Given the description of an element on the screen output the (x, y) to click on. 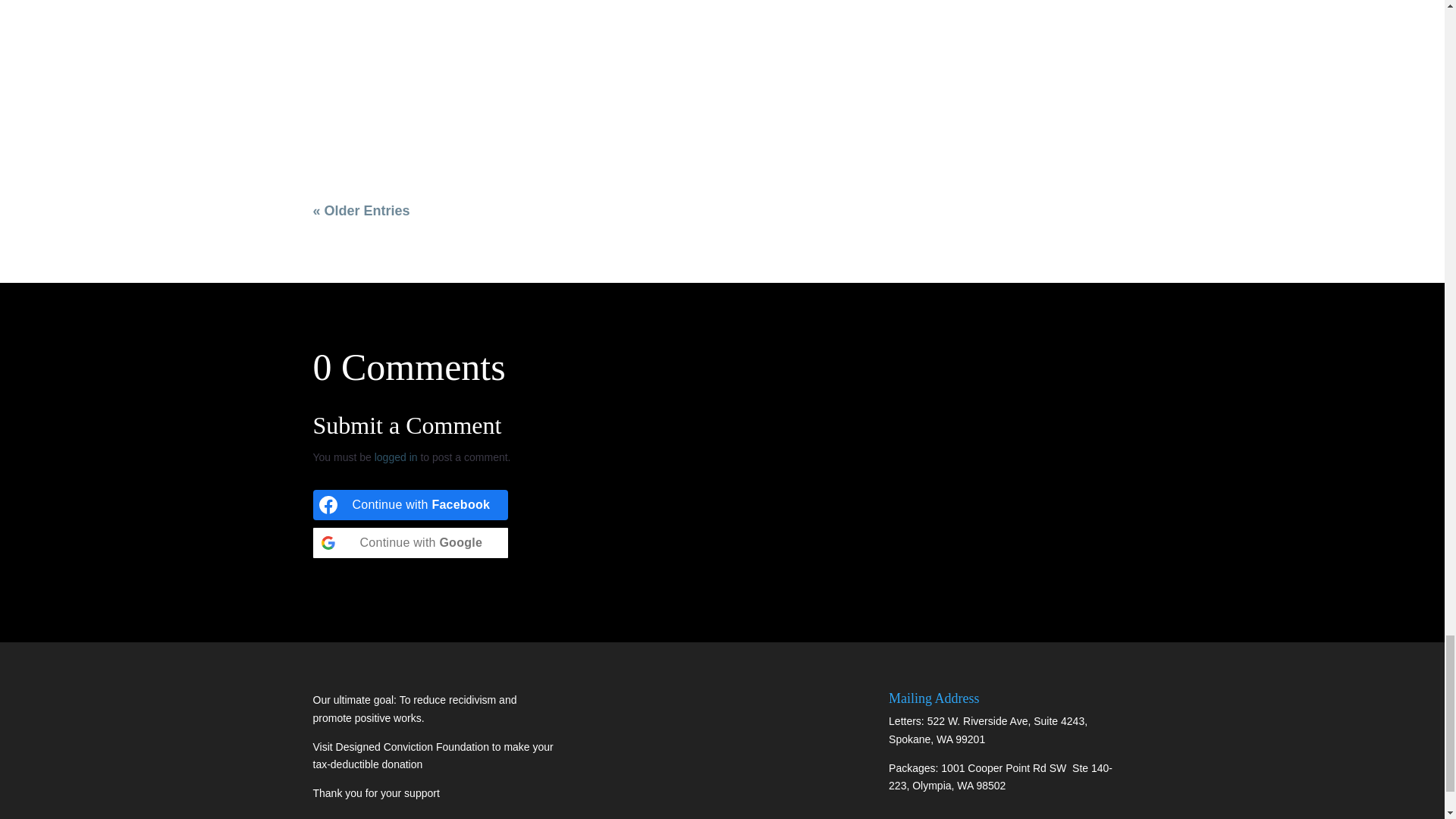
Continue with Google (410, 542)
Continue with Facebook (410, 504)
logged in (395, 457)
Designed Conviction Foundation (414, 746)
